Given the description of an element on the screen output the (x, y) to click on. 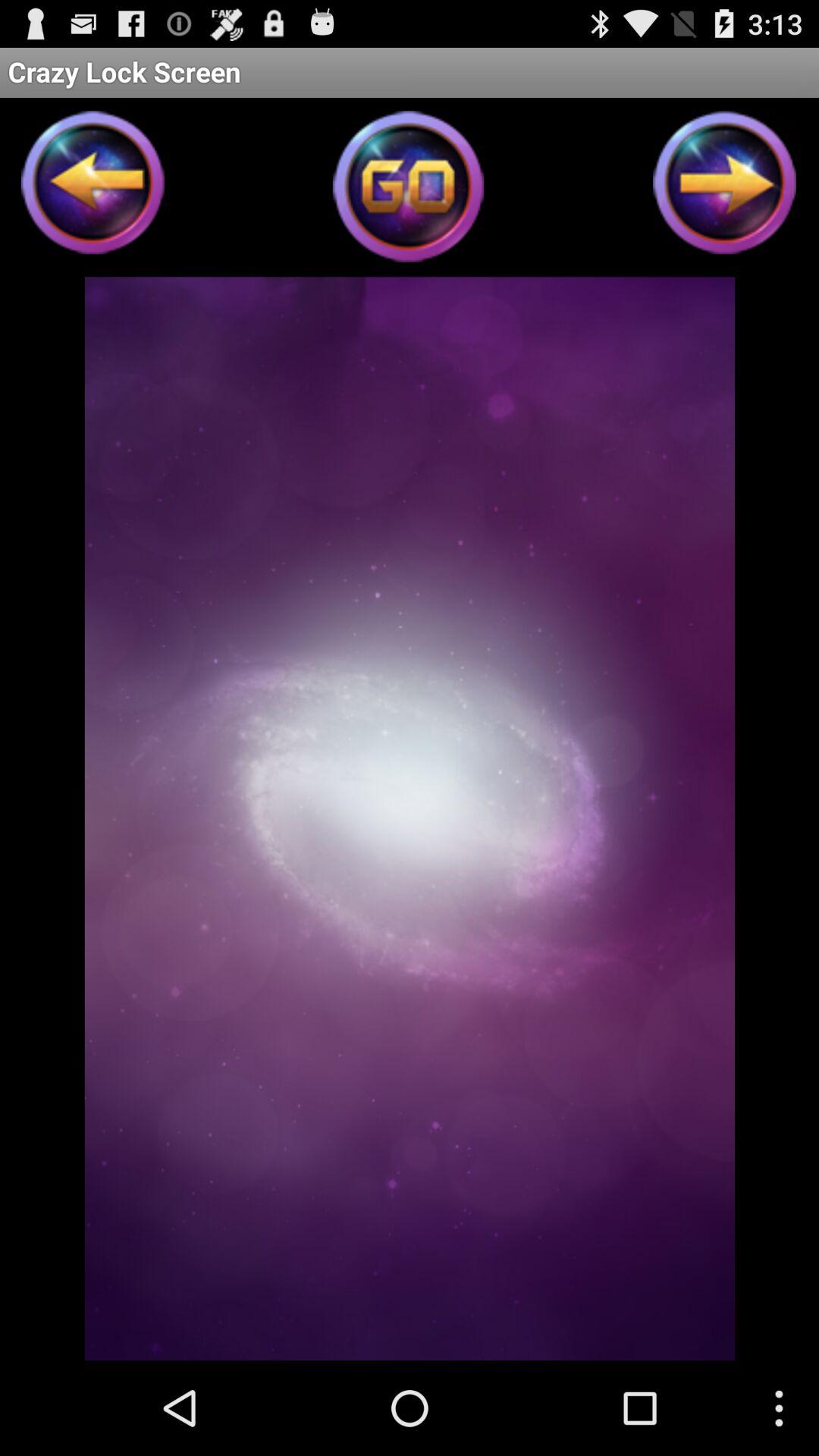
next (725, 186)
